Given the description of an element on the screen output the (x, y) to click on. 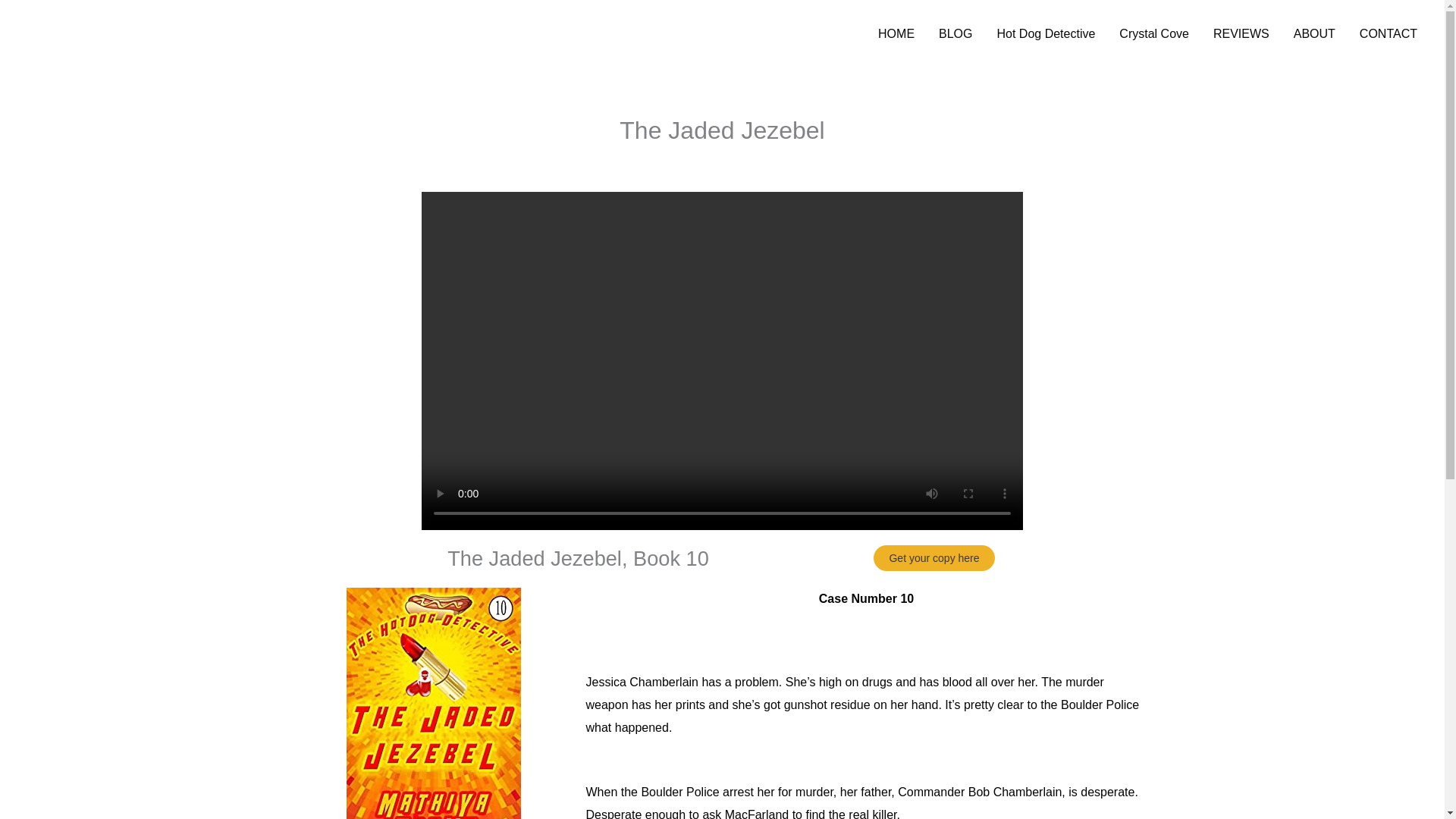
BLOG (955, 33)
ABOUT (1314, 33)
Crystal Cove (1153, 33)
Hot Dog Detective (1046, 33)
HOME (896, 33)
The Jaded Jezebel, Book 10 (577, 558)
REVIEWS (1241, 33)
Get your copy here (933, 557)
CONTACT (1388, 33)
